Given the description of an element on the screen output the (x, y) to click on. 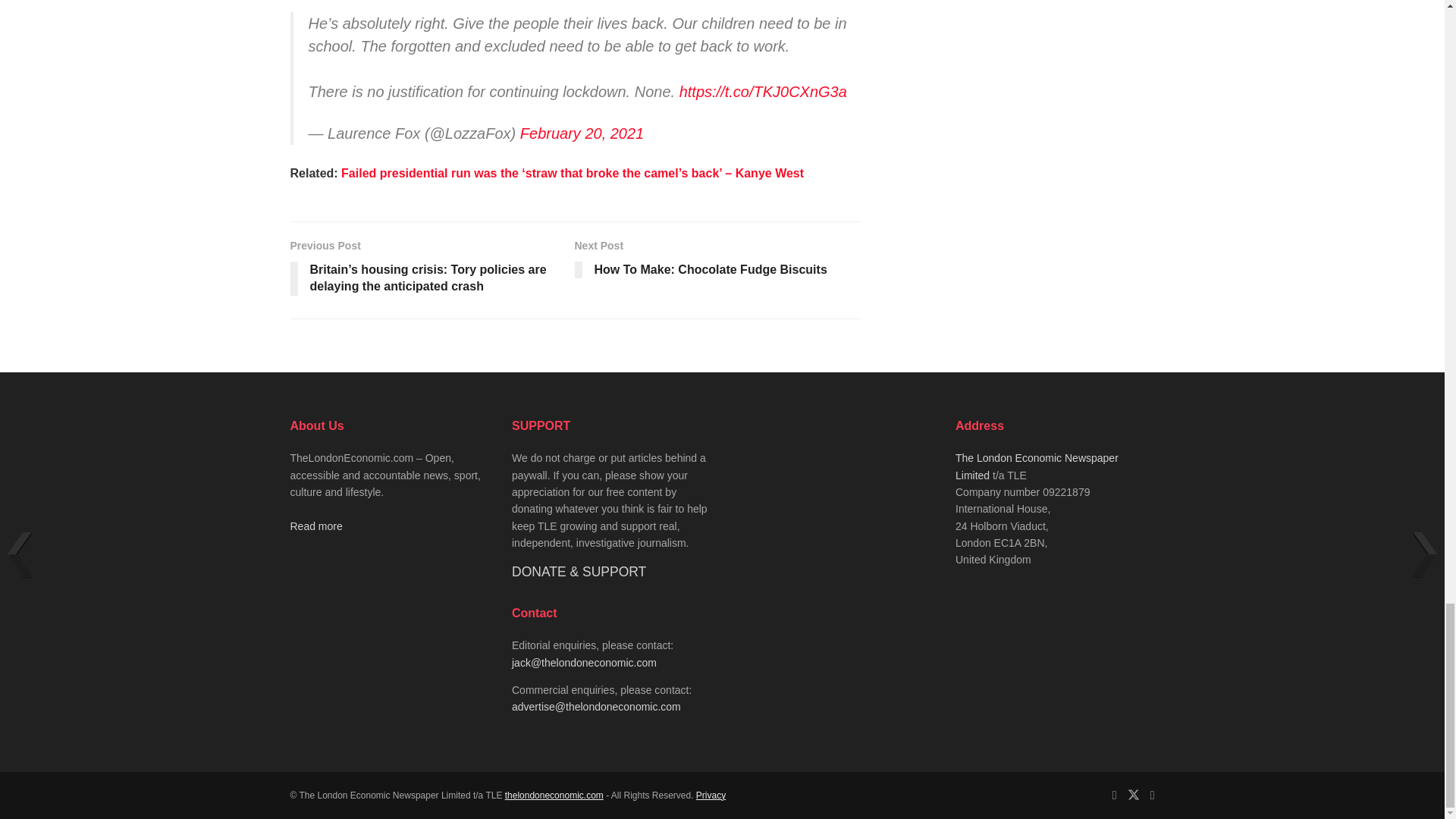
The London Economic (554, 795)
Privacy (710, 795)
